Given the description of an element on the screen output the (x, y) to click on. 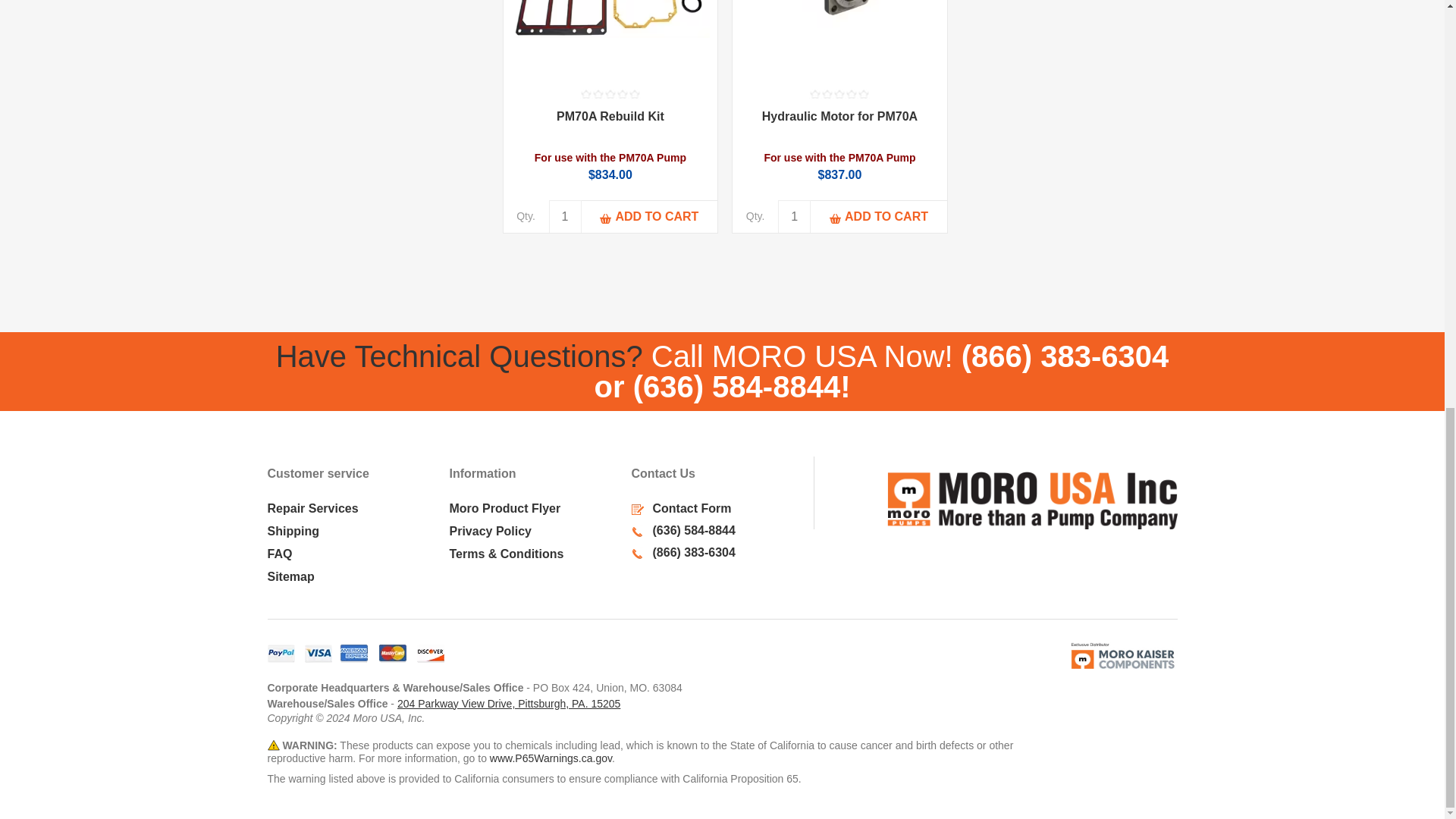
1 (564, 215)
1 (793, 215)
